Given the description of an element on the screen output the (x, y) to click on. 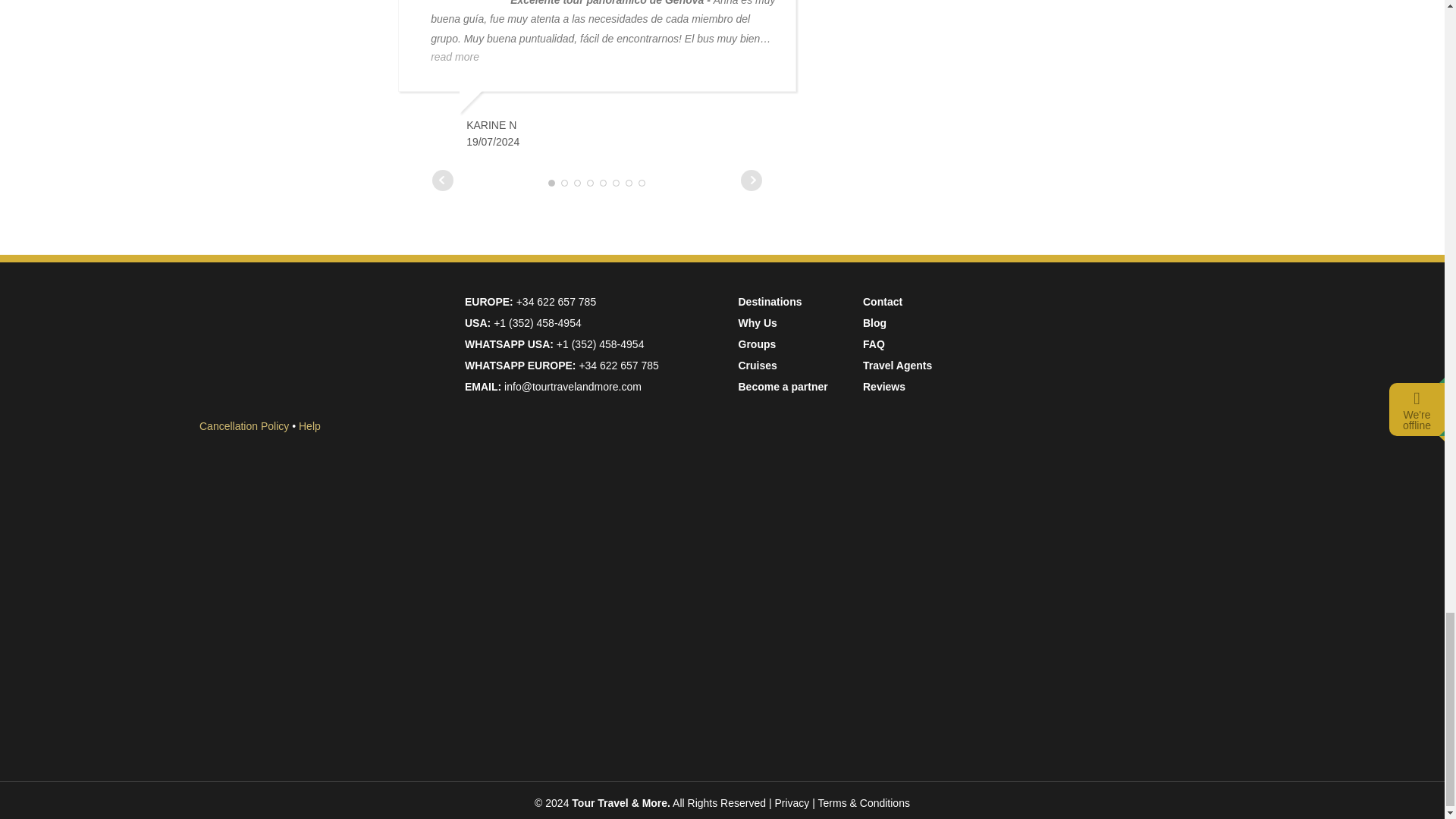
Twitter (1110, 577)
Facebook (1110, 349)
Instagram (1110, 463)
Pinterest (1109, 691)
